Given the description of an element on the screen output the (x, y) to click on. 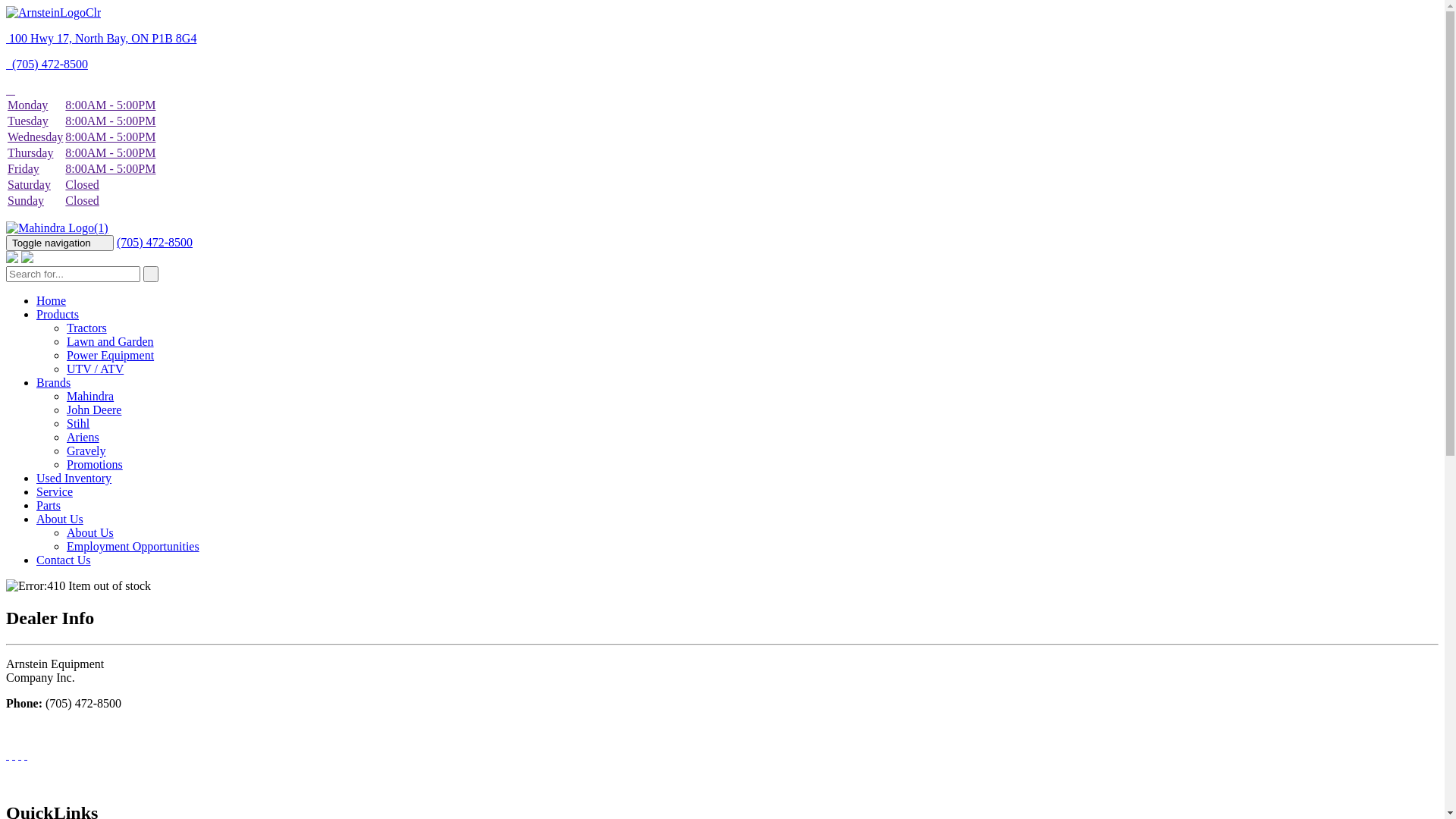
  Element type: text (25, 754)
Lawn and Garden Element type: text (109, 341)
  Element type: text (19, 754)
8:00AM - 5:00PM Element type: text (110, 152)
About Us Element type: text (59, 518)
8:00AM - 5:00PM Element type: text (110, 104)
 100 Hwy 17, North Bay, ON P1B 8G4 Element type: text (101, 37)
  Element type: text (13, 754)
Promotions Element type: text (94, 464)
Tuesday Element type: text (27, 120)
Service Element type: text (54, 491)
UTV / ATV Element type: text (94, 368)
Contact Us Element type: text (63, 559)
Power Equipment Element type: text (109, 354)
  Element type: text (150, 274)
  (705) 472-8500 Element type: text (46, 63)
About Us Element type: text (89, 532)
Employment Opportunities Element type: text (132, 545)
Monday Element type: text (27, 104)
Closed Element type: text (81, 200)
Mahindra Element type: text (89, 395)
(705) 472-8500 Element type: text (154, 241)
Thursday Element type: text (30, 152)
Friday Element type: text (23, 168)
Home Element type: text (50, 300)
8:00AM - 5:00PM Element type: text (110, 136)
John Deere Element type: text (93, 409)
Closed Element type: text (81, 184)
  Element type: text (7, 754)
Products Element type: text (57, 313)
Saturday Element type: text (28, 184)
Ariens Element type: text (82, 436)
Used Inventory Element type: text (73, 477)
Tractors Element type: text (86, 327)
Parts Element type: text (48, 504)
Sunday Element type: text (25, 200)
8:00AM - 5:00PM Element type: text (110, 168)
8:00AM - 5:00PM Element type: text (110, 120)
Brands Element type: text (53, 382)
Gravely Element type: text (86, 450)
    Element type: text (10, 89)
Toggle navigation       Element type: text (59, 243)
Wednesday Element type: text (34, 136)
Stihl Element type: text (77, 423)
